Given the description of an element on the screen output the (x, y) to click on. 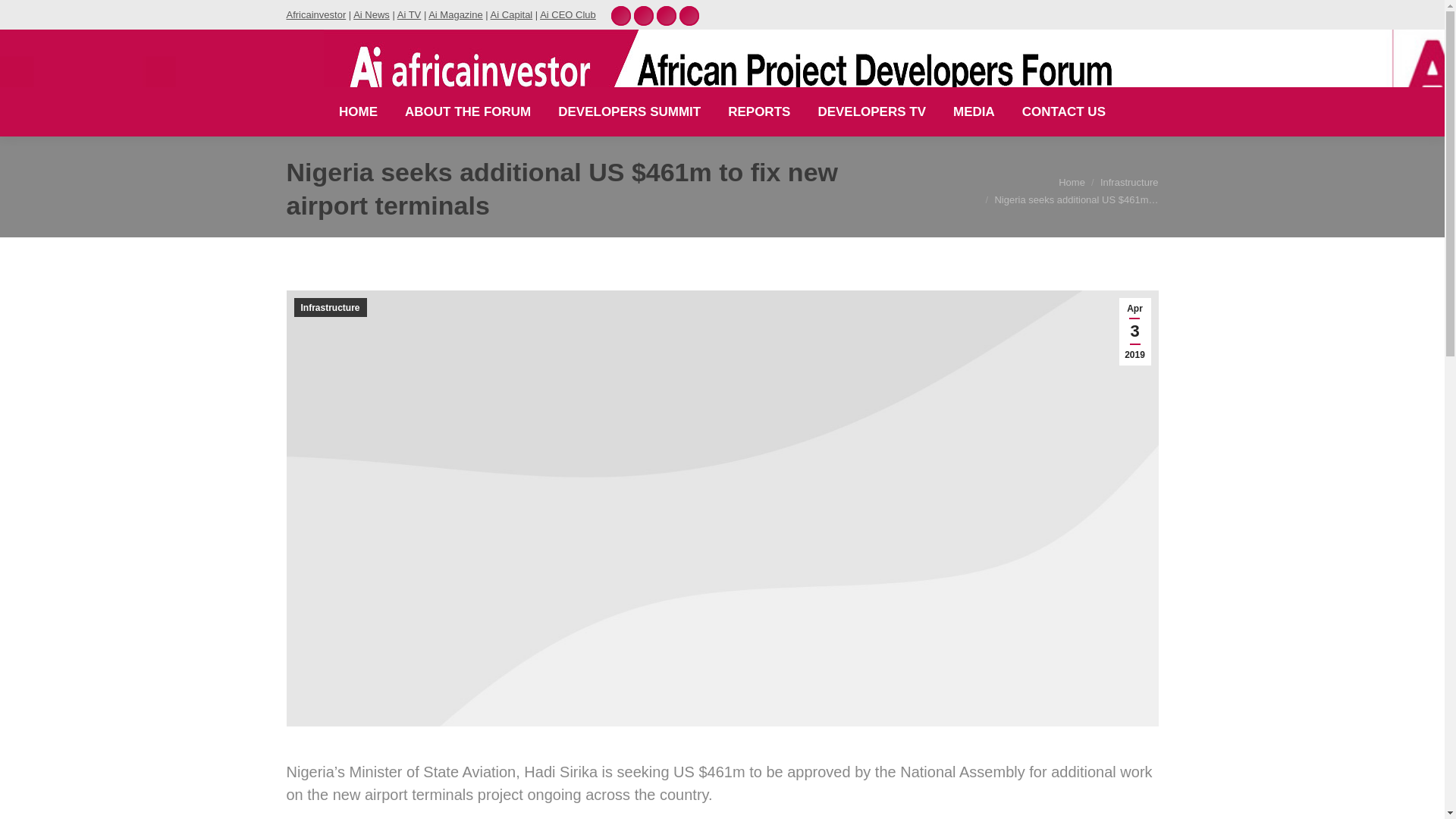
Africainvestor (316, 14)
DEVELOPERS SUMMIT (628, 111)
Ai CEO Club (567, 14)
Pinterest page opens in new window (620, 15)
Home (1071, 181)
Infrastructure (1129, 181)
Twitter page opens in new window (666, 15)
Pinterest page opens in new window (620, 15)
DEVELOPERS TV (870, 111)
Twitter page opens in new window (666, 15)
